Given the description of an element on the screen output the (x, y) to click on. 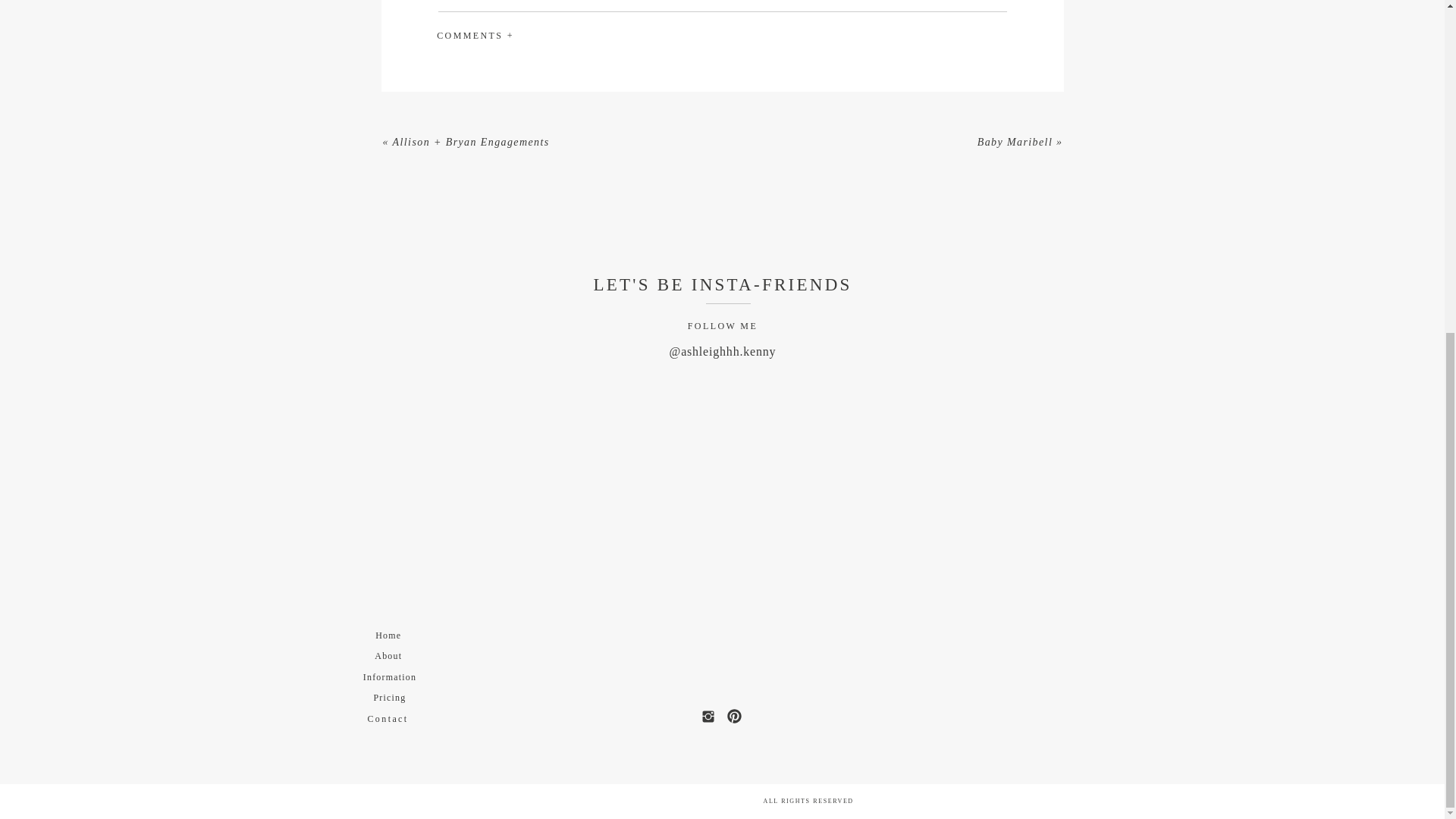
Information (389, 676)
Baby Maribell (1014, 142)
Home (388, 635)
About (388, 655)
LET'S BE INSTA-FRIENDS (723, 285)
Contact (387, 717)
Pricing (389, 697)
